Given the description of an element on the screen output the (x, y) to click on. 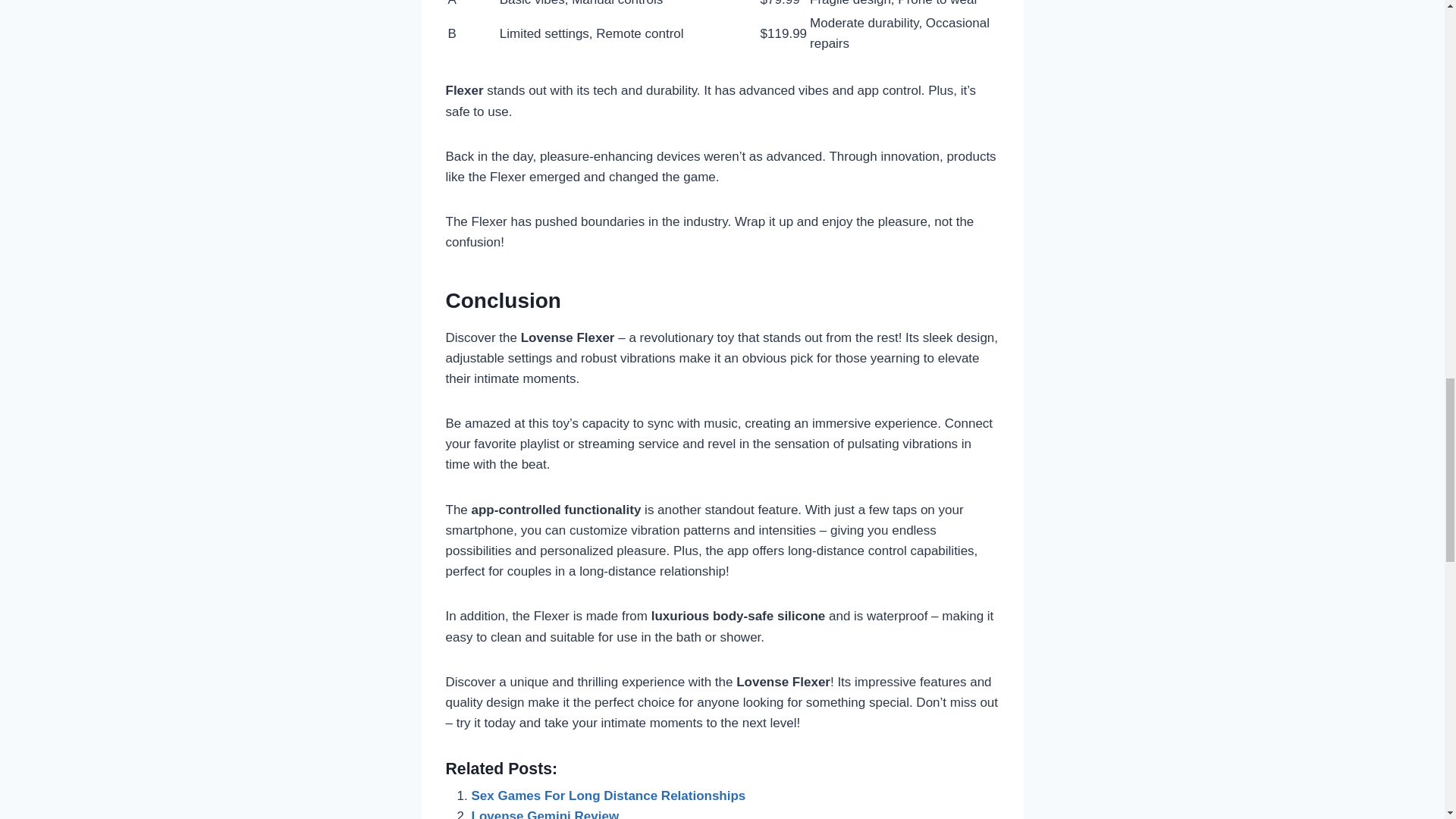
Lovense Gemini Review (545, 814)
Lovense Gemini Review (545, 814)
Sex Games For Long Distance Relationships (608, 795)
Sex Games For Long Distance Relationships (608, 795)
